Given the description of an element on the screen output the (x, y) to click on. 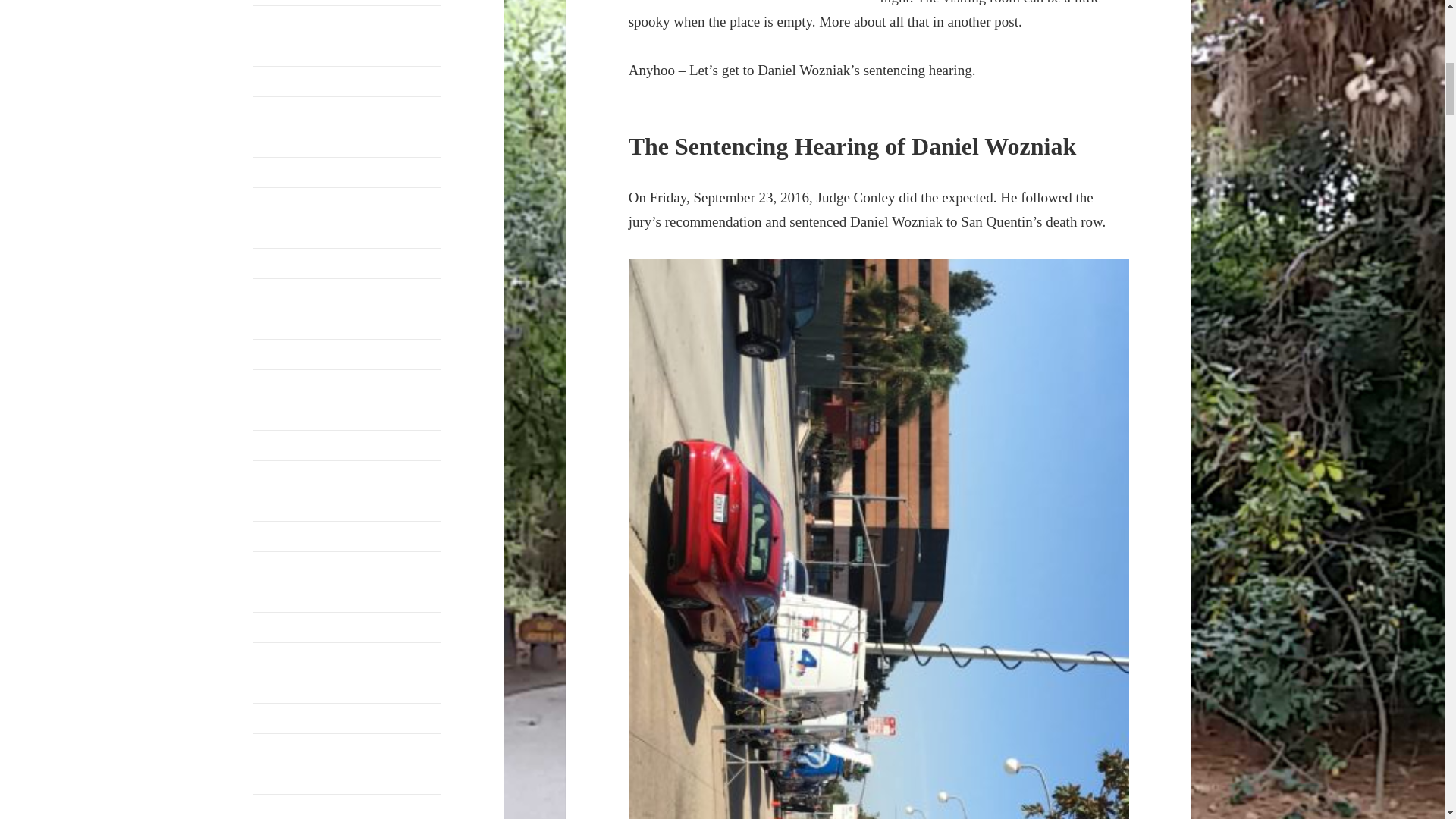
August 2018 (284, 504)
July 2021 (277, 80)
February 2018 (288, 626)
April 2020 (279, 201)
June 2018 (277, 565)
January 2018 (285, 656)
October 2018 (286, 444)
September 2018 (292, 474)
October 2019 (286, 292)
June 2020 (277, 171)
May 2018 (277, 595)
October 2017 (286, 717)
August 2020 (284, 141)
November 2018 (292, 413)
May 2019 (277, 323)
